Given the description of an element on the screen output the (x, y) to click on. 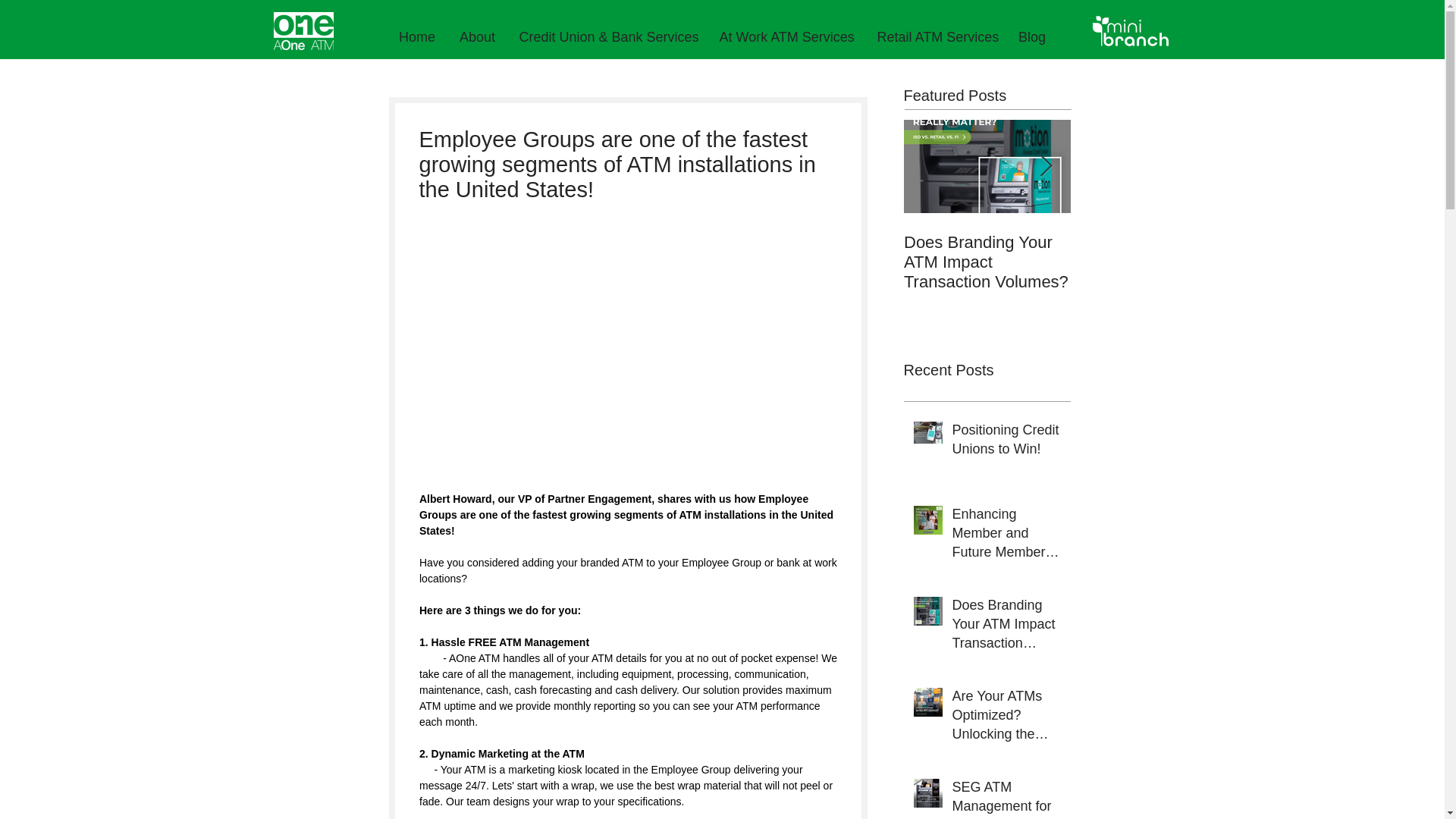
Retail ATM Services (936, 37)
At Work ATM Services (786, 37)
ricos-video (627, 295)
About (477, 37)
Home (416, 37)
Does Branding Your ATM Impact Transaction Volumes? (987, 261)
Blog (1032, 37)
Employee Group ATM Services (1153, 251)
